Given the description of an element on the screen output the (x, y) to click on. 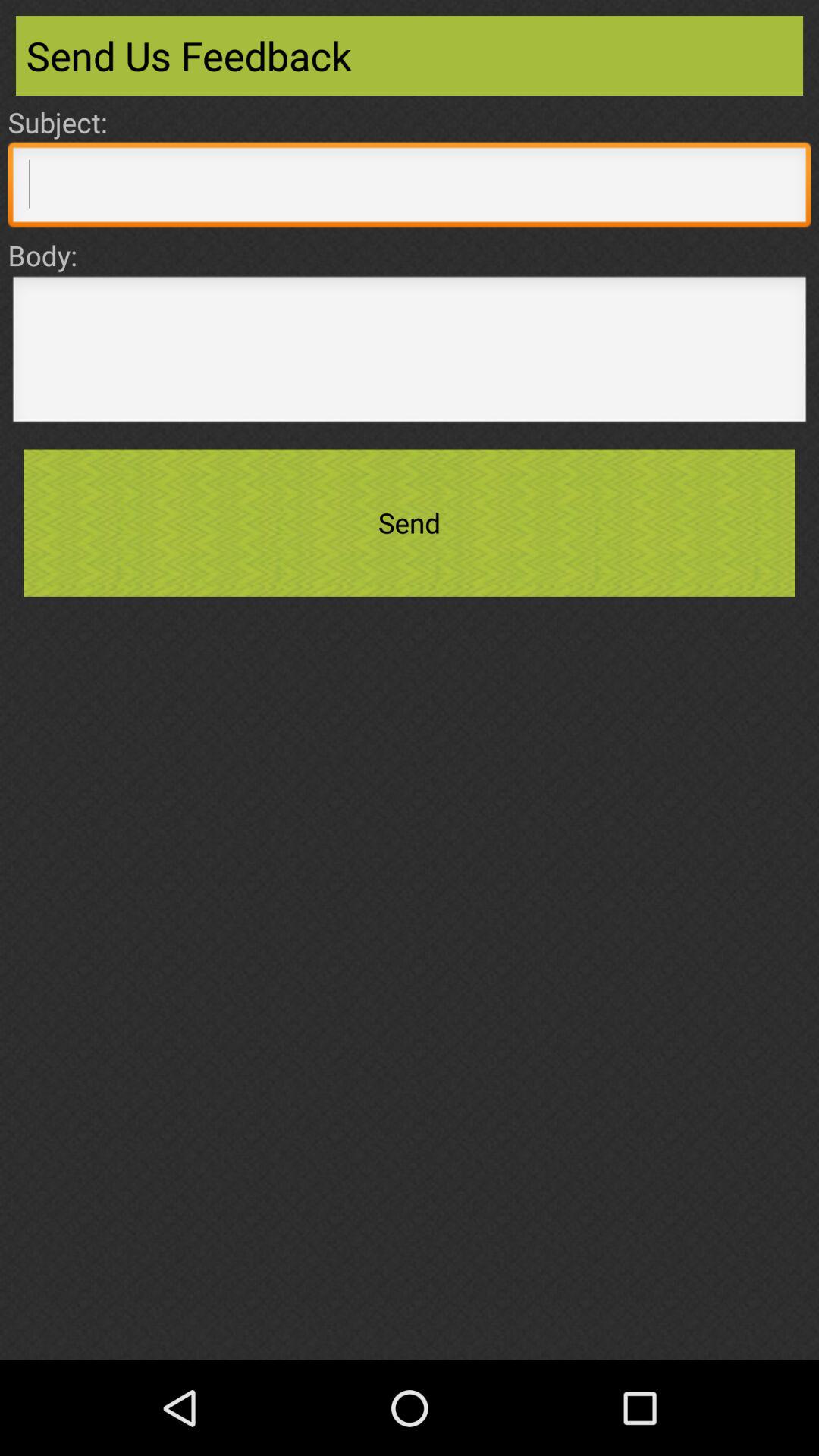
enter feedback (409, 353)
